Given the description of an element on the screen output the (x, y) to click on. 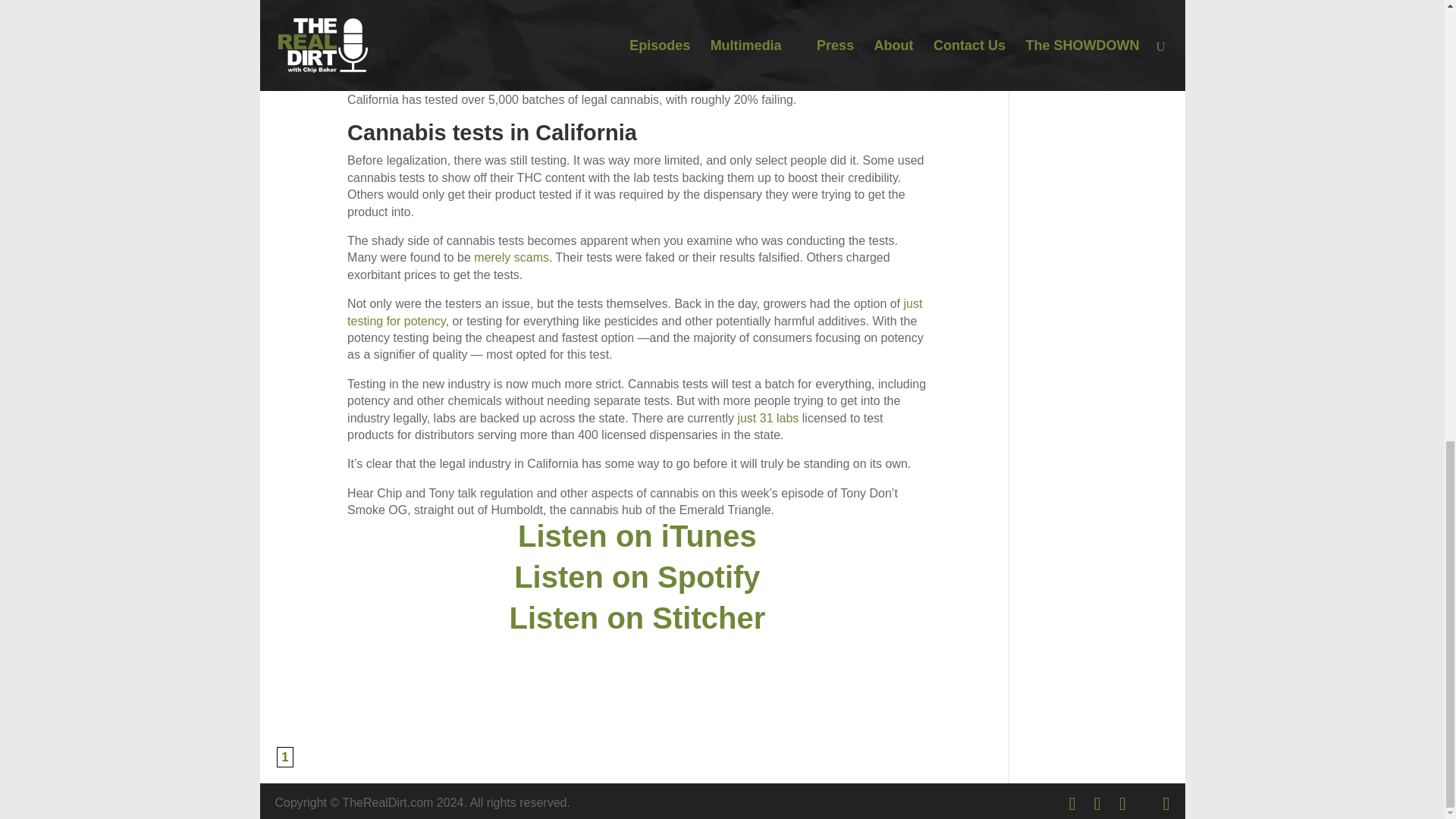
Listen on Spotify (636, 575)
just testing for potency (634, 311)
merely scams (511, 256)
just 31 labs (765, 418)
Listen on Stitcher (636, 616)
Listen on iTunes (637, 535)
one in five products have failed the cannabis tests (635, 57)
